Given the description of an element on the screen output the (x, y) to click on. 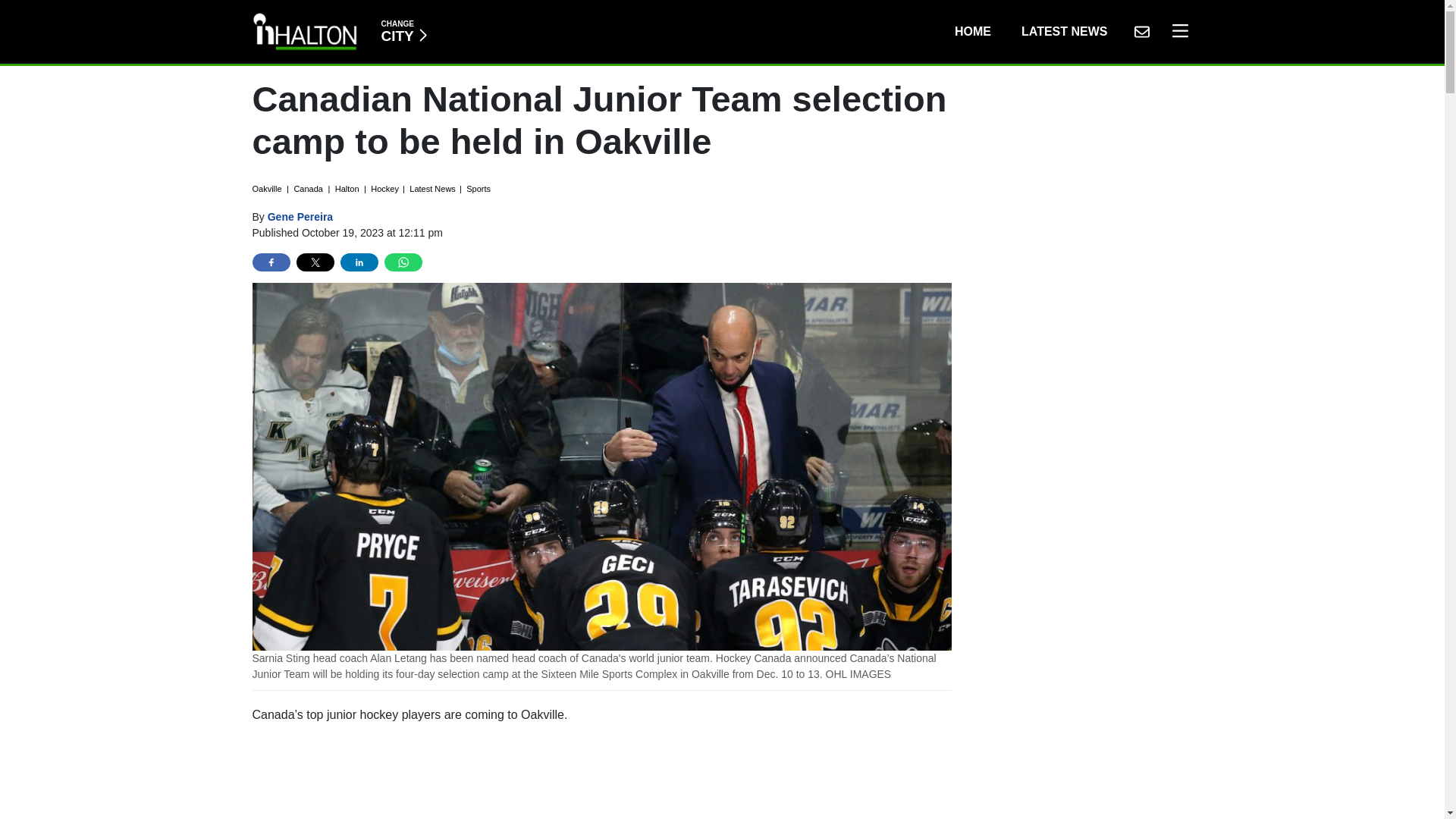
Posts by 942 (402, 31)
LATEST NEWS (300, 216)
3rd party ad content (1064, 31)
OPEN MENU (601, 777)
SIGN UP FOR OUR NEWSLETTER (1176, 31)
HOME (1141, 31)
